Given the description of an element on the screen output the (x, y) to click on. 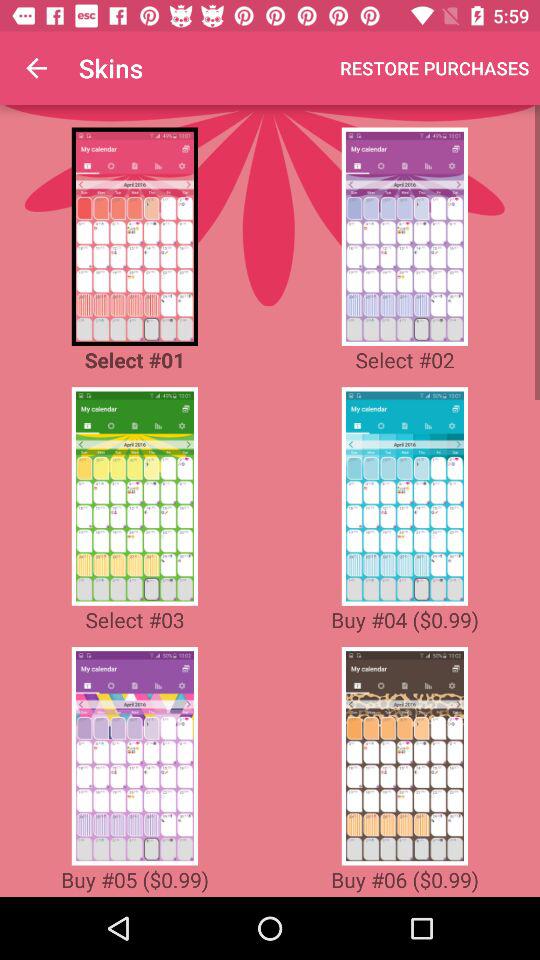
select the skin selections page (134, 496)
